Given the description of an element on the screen output the (x, y) to click on. 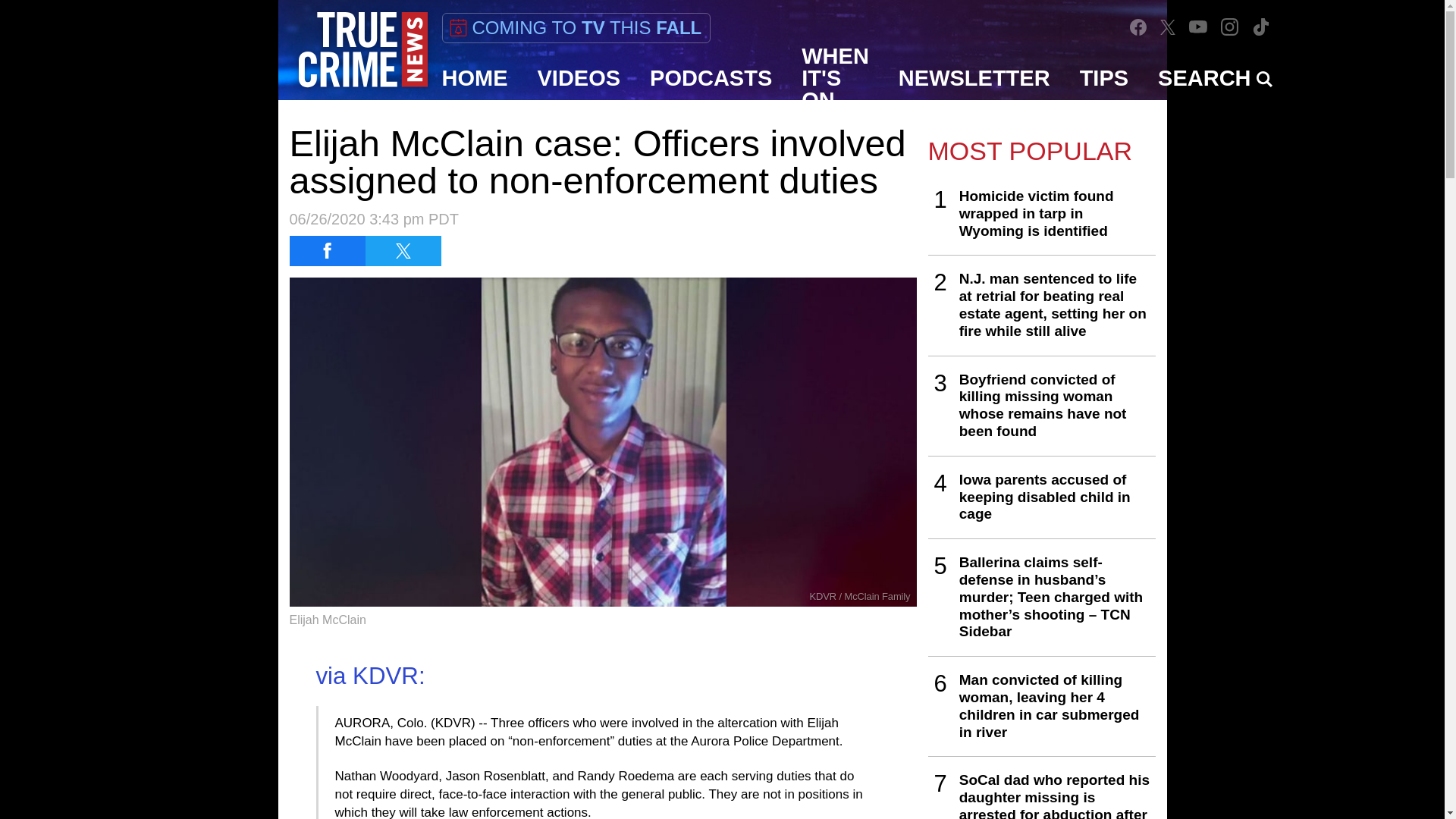
Twitter (1167, 26)
VIDEOS (579, 77)
PODCASTS (710, 77)
Facebook (1138, 26)
TIPS (1103, 77)
SEARCH (1214, 77)
COMING TO TV THIS FALL (575, 28)
True Crime News (363, 49)
TikTok (1260, 26)
YouTube (1198, 26)
Facebook (1137, 27)
WHEN IT'S ON (835, 77)
HOME (475, 77)
Instagram (1229, 26)
Instagram (1230, 27)
